Given the description of an element on the screen output the (x, y) to click on. 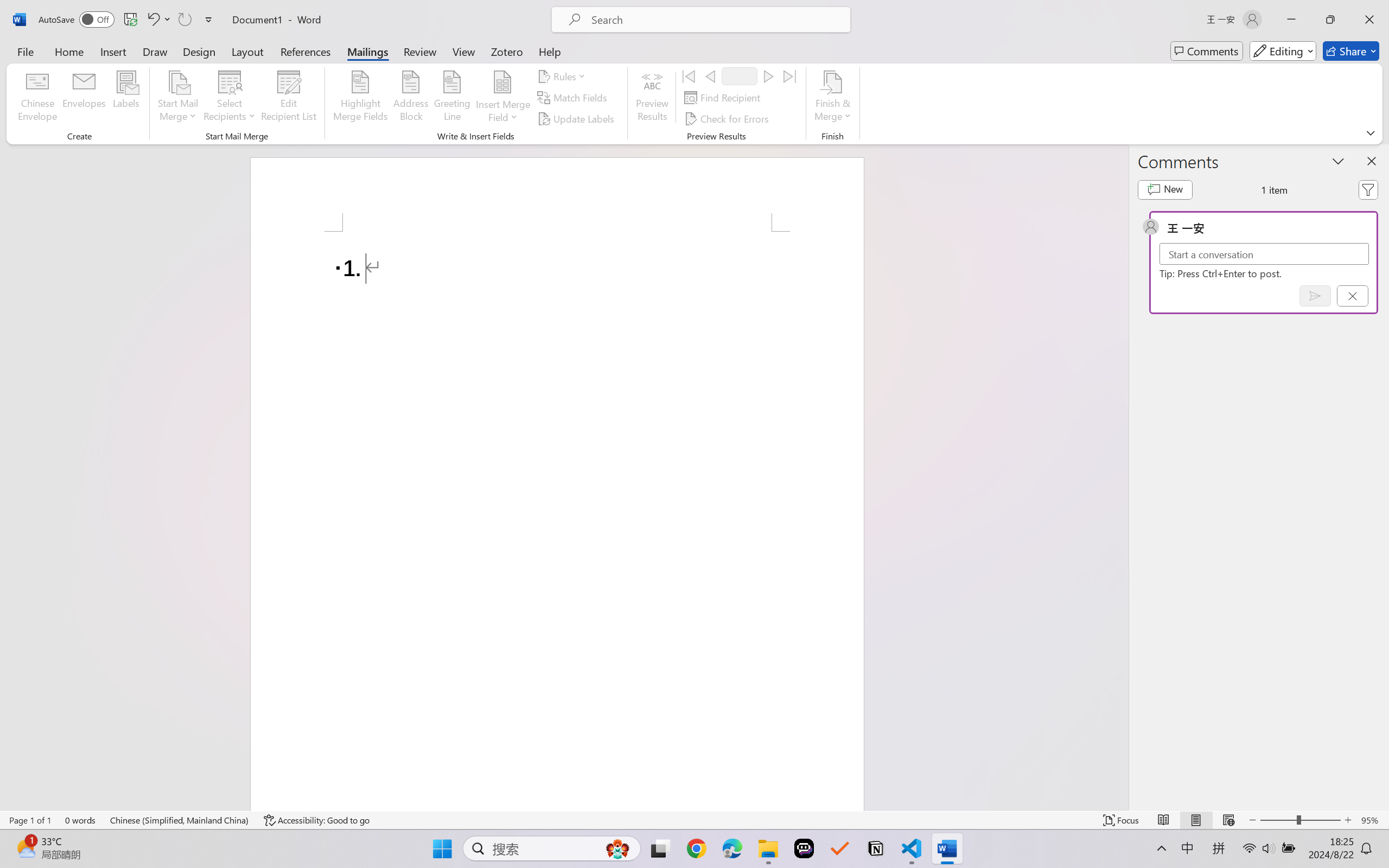
Edit Recipient List... (288, 97)
Start a conversation (1263, 254)
Record (739, 76)
Post comment (Ctrl + Enter) (1315, 295)
Previous (709, 75)
New comment (1165, 189)
Select Recipients (229, 97)
Filter (1367, 189)
